Given the description of an element on the screen output the (x, y) to click on. 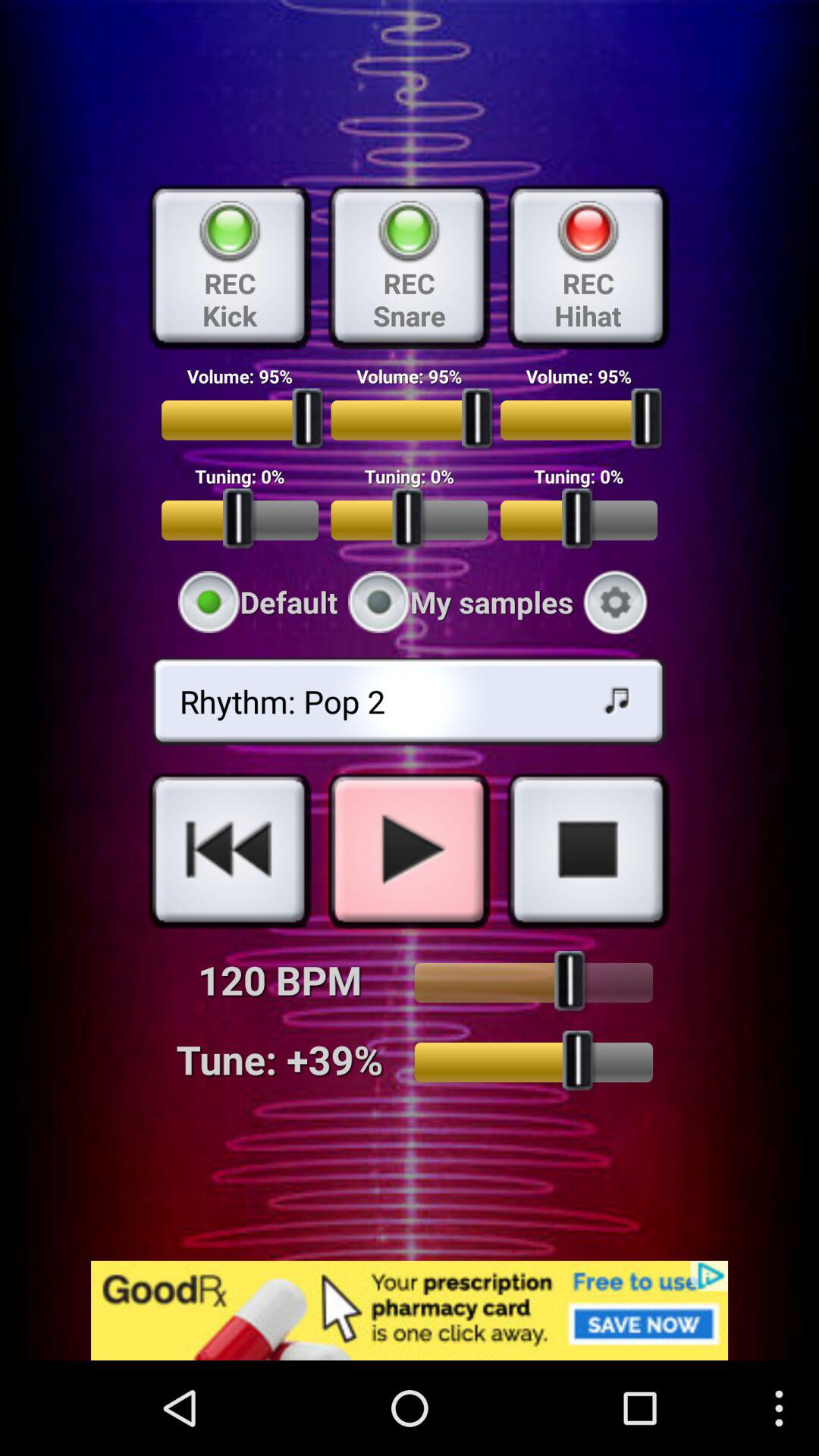
play (408, 850)
